Given the description of an element on the screen output the (x, y) to click on. 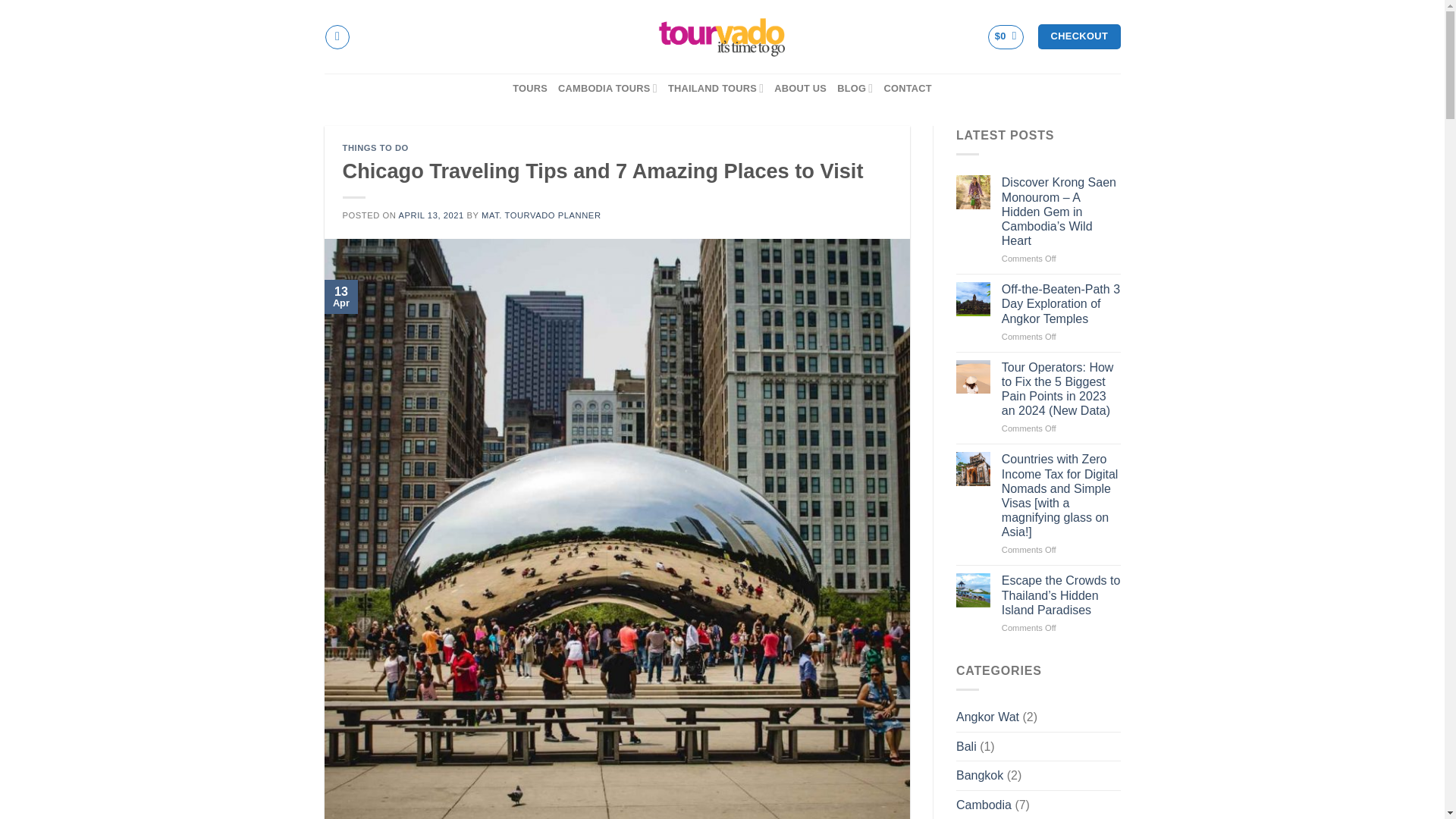
Cart (1005, 36)
CONTACT (907, 88)
CAMBODIA TOURS (607, 88)
MAT. TOURVADO PLANNER (540, 215)
ABOUT US (800, 88)
APRIL 13, 2021 (430, 215)
THINGS TO DO (375, 147)
TOURS (529, 88)
BLOG (854, 88)
CHECKOUT (1078, 36)
